Given the description of an element on the screen output the (x, y) to click on. 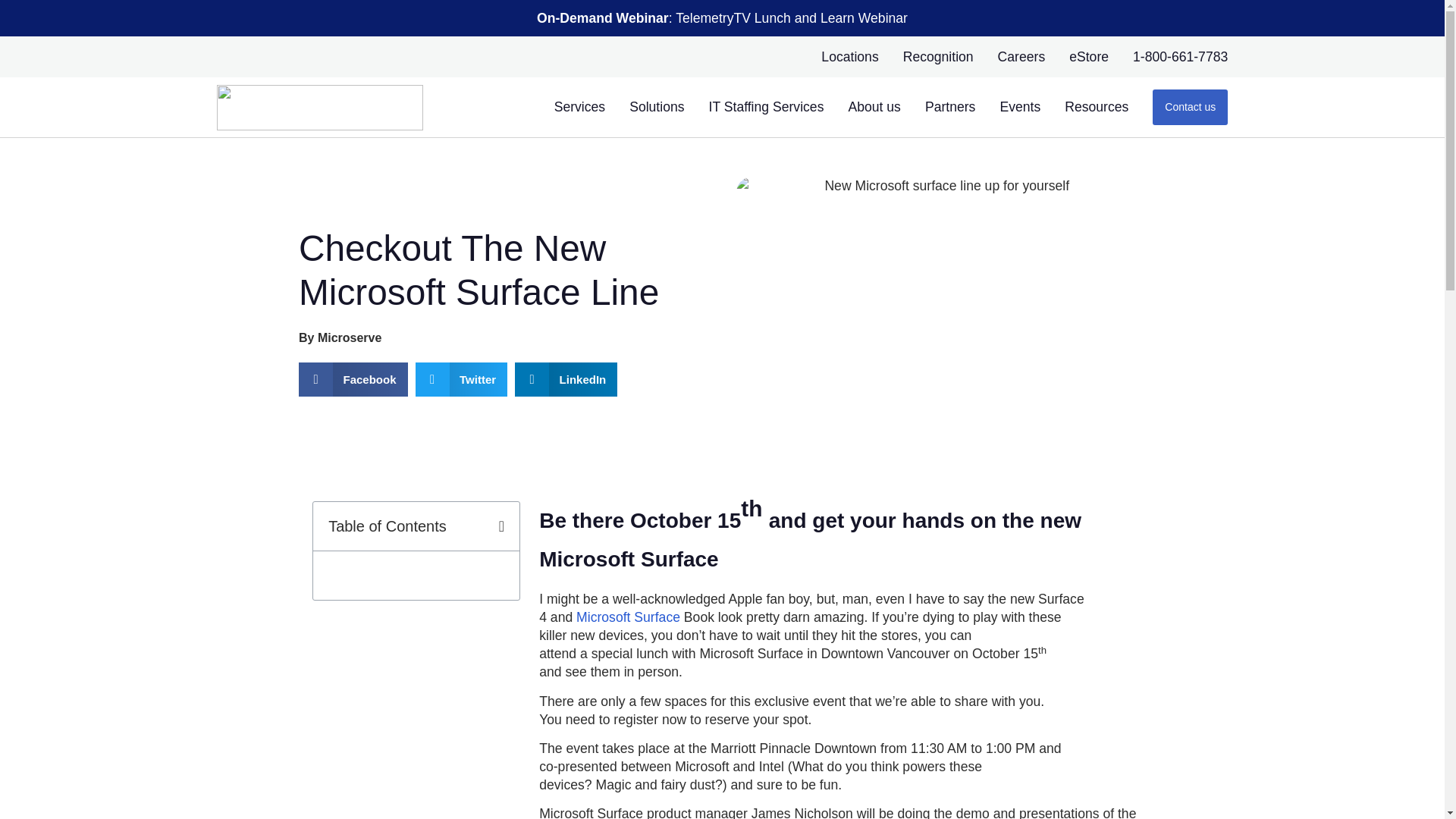
Solutions (656, 107)
1-800-661-7783 (1179, 56)
eStore (1088, 56)
About us (873, 107)
Locations (849, 56)
IT Staffing Services (766, 107)
Careers (1021, 56)
TelemetryTV Lunch and Learn Webinar (791, 17)
Recognition (938, 56)
Services (579, 107)
